Given the description of an element on the screen output the (x, y) to click on. 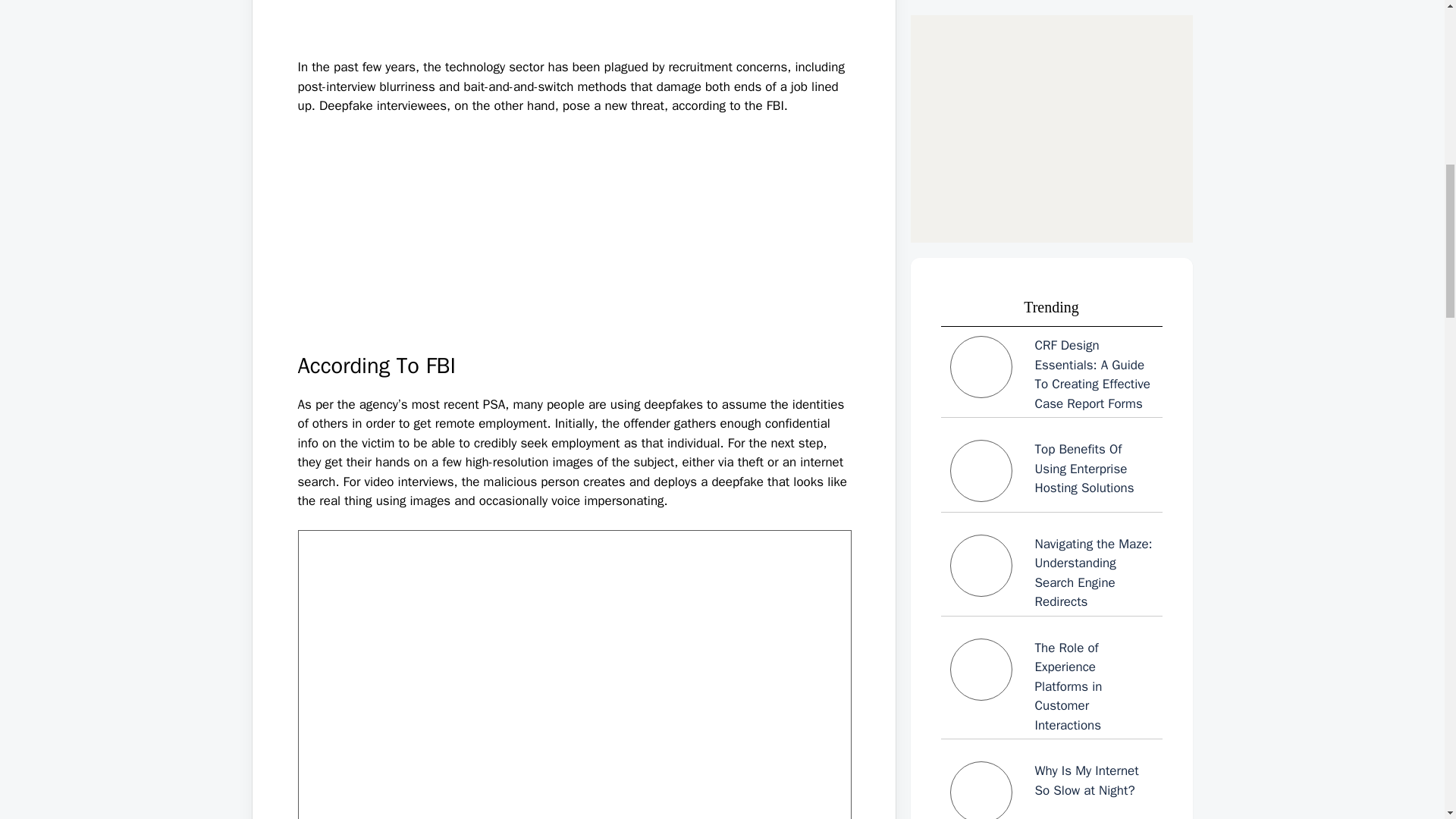
Why Is My Internet So Slow at Night? (1051, 216)
How To Set Strategic Business Priorities In 2024 (1051, 519)
Navigating the Maze: Understanding Search Engine Redirects (1051, 16)
How to Watch Spanish TV in the US (1051, 613)
The Role of Experience Platforms in Customer Interactions  (1051, 107)
Scroll back to top (1406, 720)
The Impact Of Proactive IT Support On Business Continuity (1051, 315)
